Given the description of an element on the screen output the (x, y) to click on. 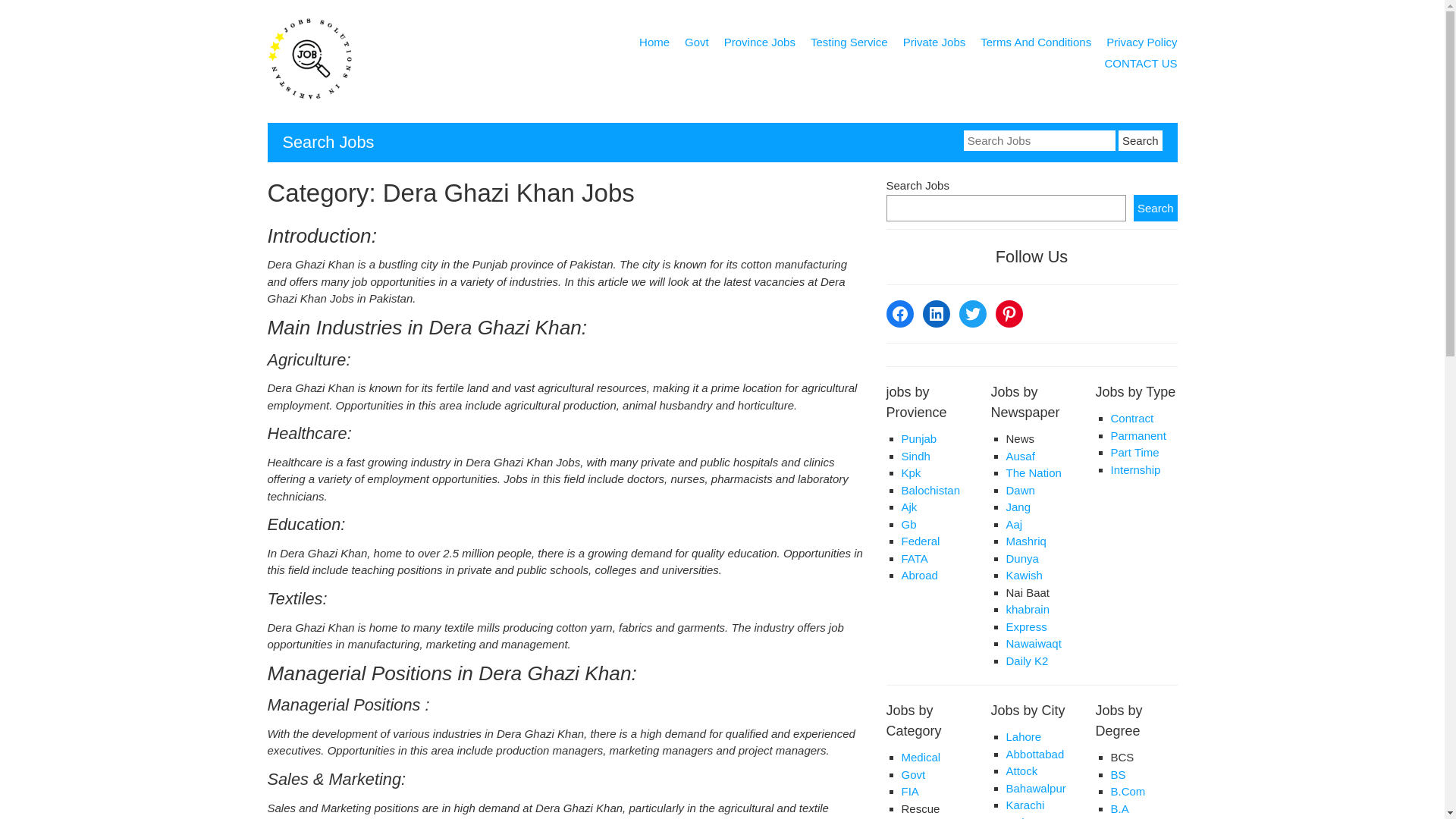
Province Jobs (758, 44)
Search (1139, 140)
Job Solutions (309, 97)
Search (1139, 140)
Home (654, 44)
Govt (696, 44)
